Given the description of an element on the screen output the (x, y) to click on. 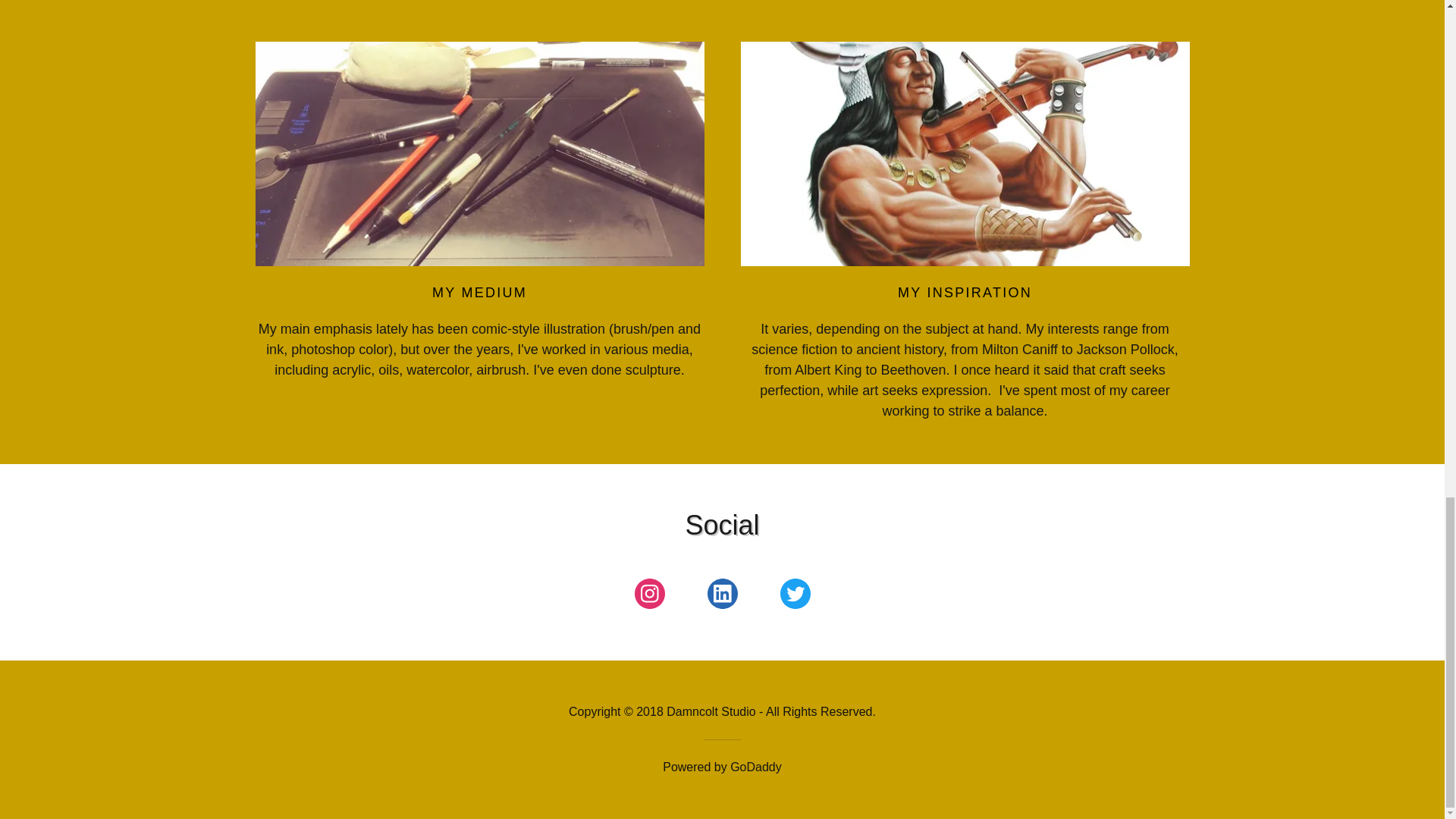
GoDaddy (755, 766)
